Given the description of an element on the screen output the (x, y) to click on. 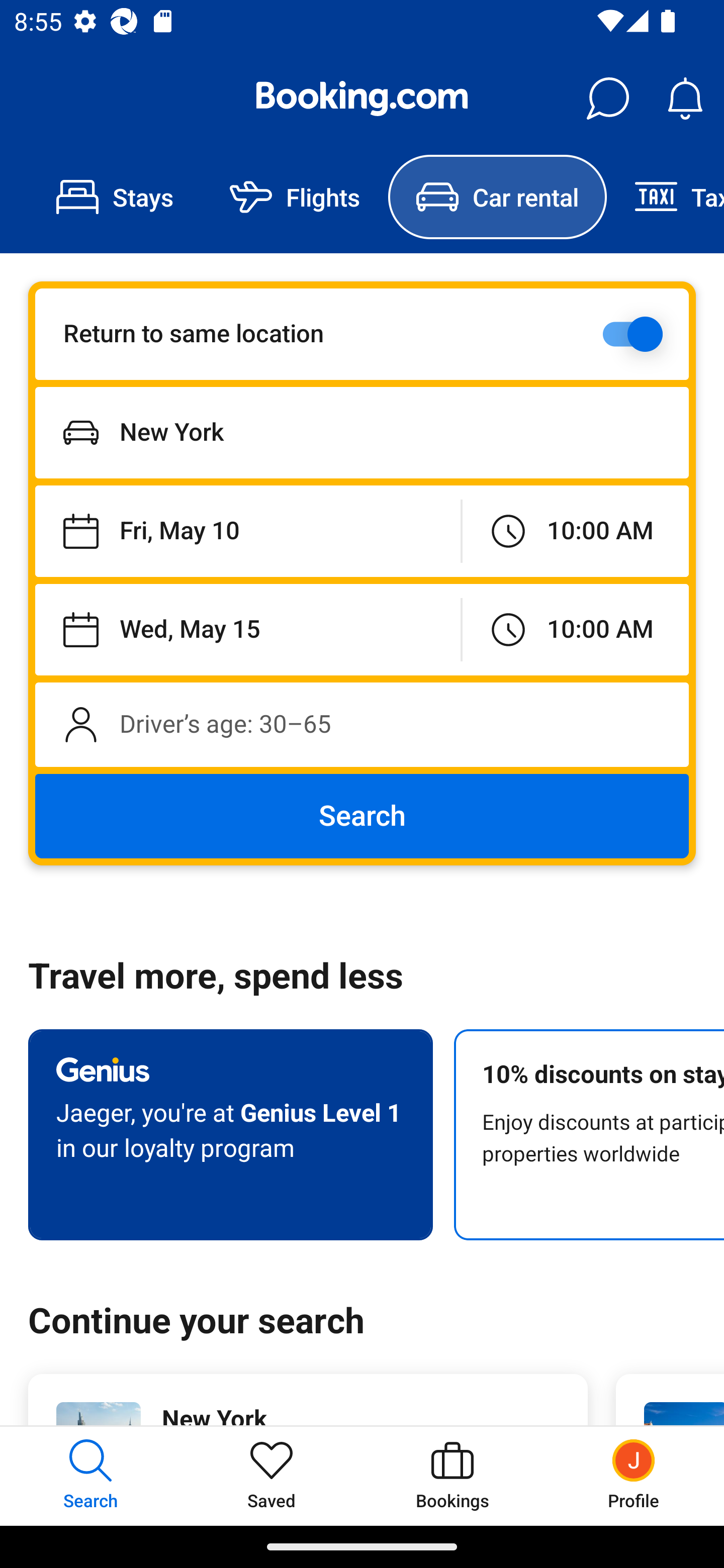
Messages (607, 98)
Notifications (685, 98)
Stays (114, 197)
Flights (294, 197)
Car rental (497, 197)
Taxi (665, 197)
Pick-up location: Text(name=New York) (361, 432)
Pick-up date: 2024-05-10 (247, 531)
Pick-up time: 10:00:00.000 (575, 531)
Drop-off date: 2024-05-15 (247, 629)
Drop-off time: 10:00:00.000 (575, 629)
Enter the driver's age (361, 724)
Search (361, 815)
Saved (271, 1475)
Bookings (452, 1475)
Profile (633, 1475)
